Given the description of an element on the screen output the (x, y) to click on. 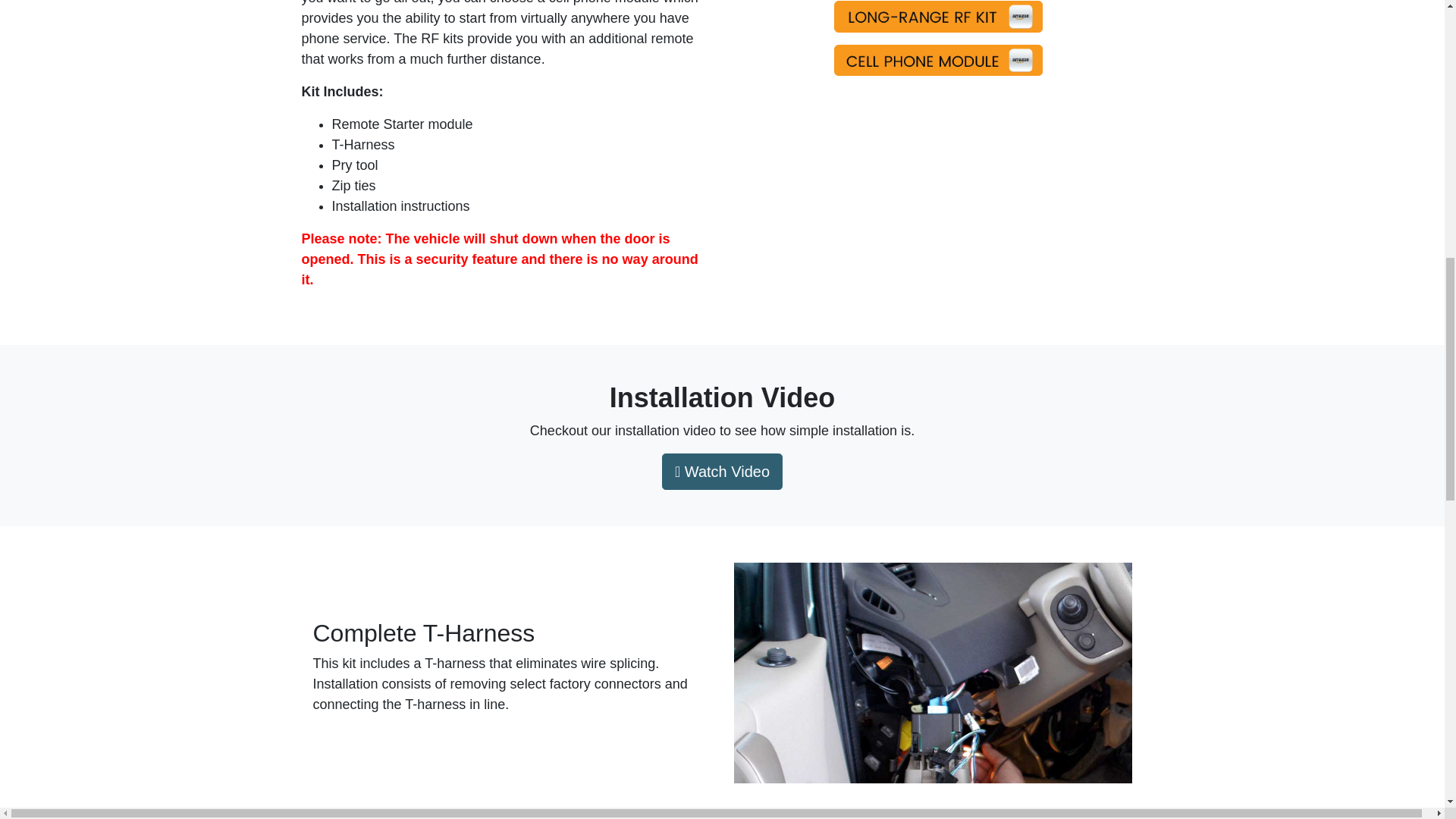
Watch Video (722, 471)
